Given the description of an element on the screen output the (x, y) to click on. 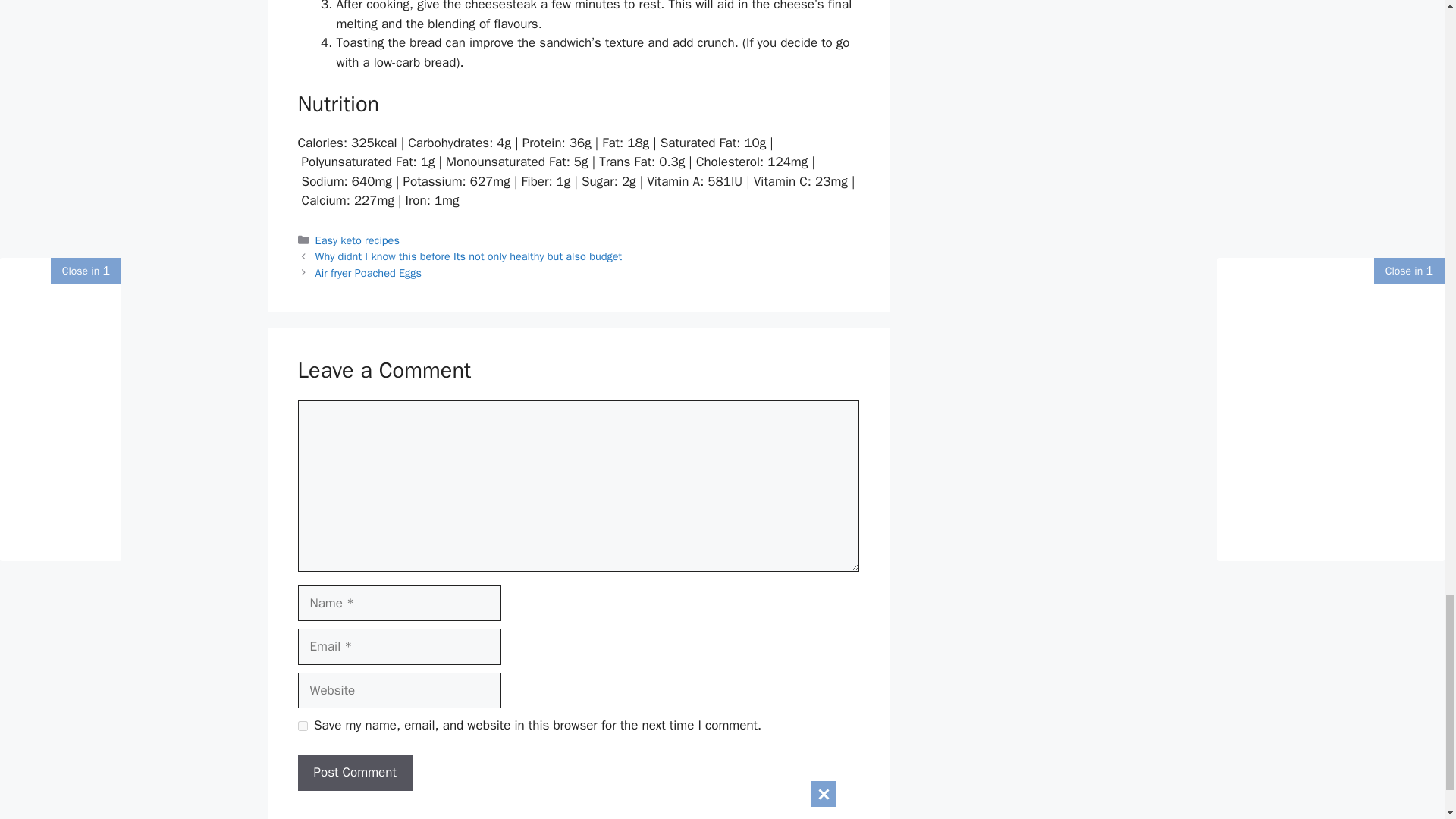
yes (302, 726)
Post Comment (354, 772)
Easy keto recipes (356, 240)
Post Comment (354, 772)
Air fryer Poached Eggs (368, 273)
